Given the description of an element on the screen output the (x, y) to click on. 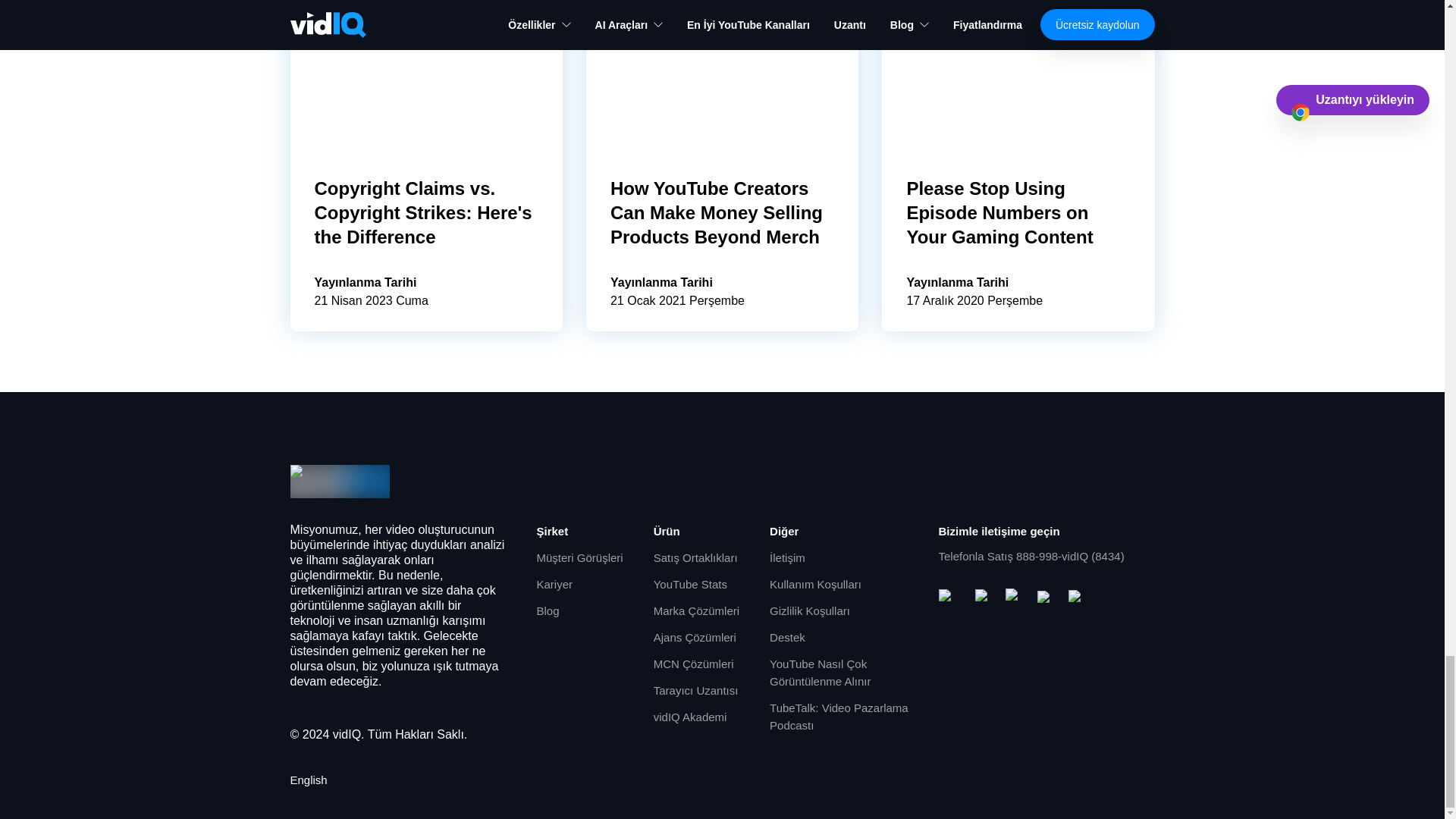
Twitter (1046, 598)
LinkedIn (1076, 598)
YouTube (950, 597)
Instagram (1015, 598)
Facebook (983, 597)
